Given the description of an element on the screen output the (x, y) to click on. 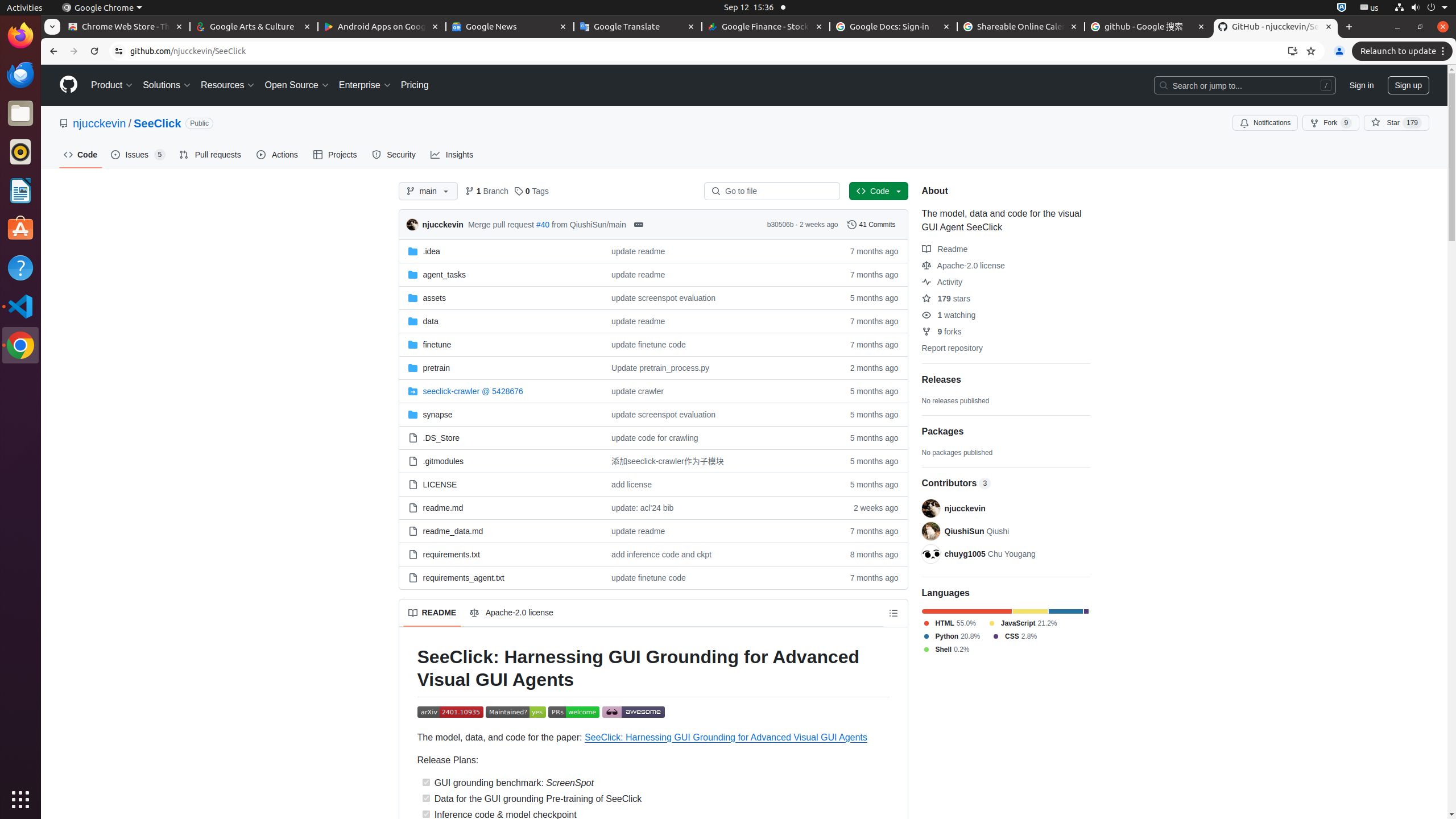
Apache-2.0 license Element type: link (512, 613)
add inference code and ckpt Element type: link (661, 554)
